Given the description of an element on the screen output the (x, y) to click on. 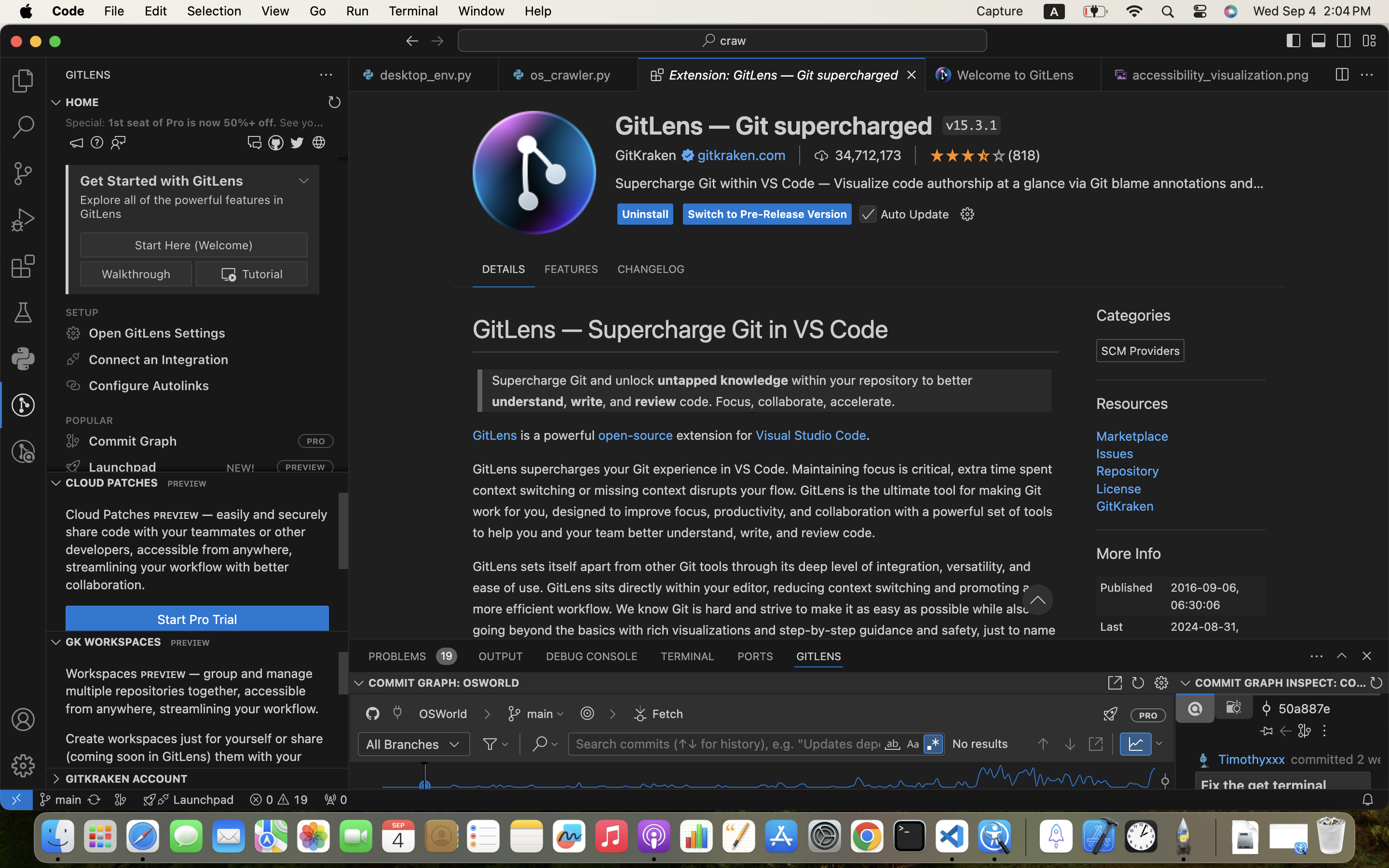
0  Element type: AXRadioButton (23, 312)
Commit Graph Element type: AXStaticText (1114, 598)
 Element type: AXStaticText (900, 545)
 Element type: AXStaticText (1053, 514)
feature rich Element type: AXStaticText (1205, 211)
